Given the description of an element on the screen output the (x, y) to click on. 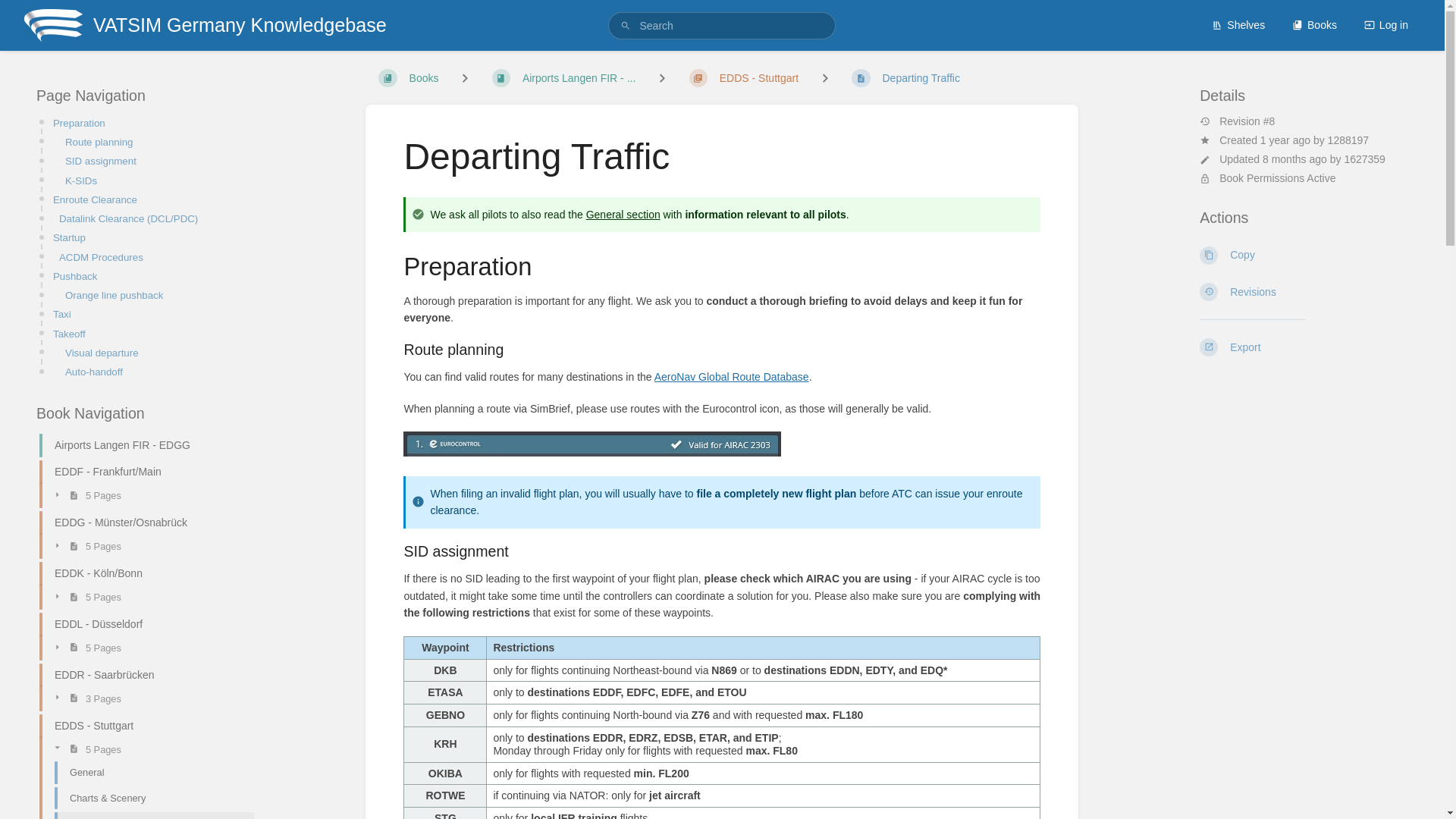
Log in (1386, 24)
Orange line pushback (154, 295)
Visual departure (154, 352)
K-SIDs (154, 180)
Airports Langen FIR - EDGG (140, 445)
Enroute Clearance (148, 199)
1288197 (1348, 140)
Pushback (148, 276)
SID assignment (154, 160)
EDDS Pilotbriefing - General (623, 214)
